Given the description of an element on the screen output the (x, y) to click on. 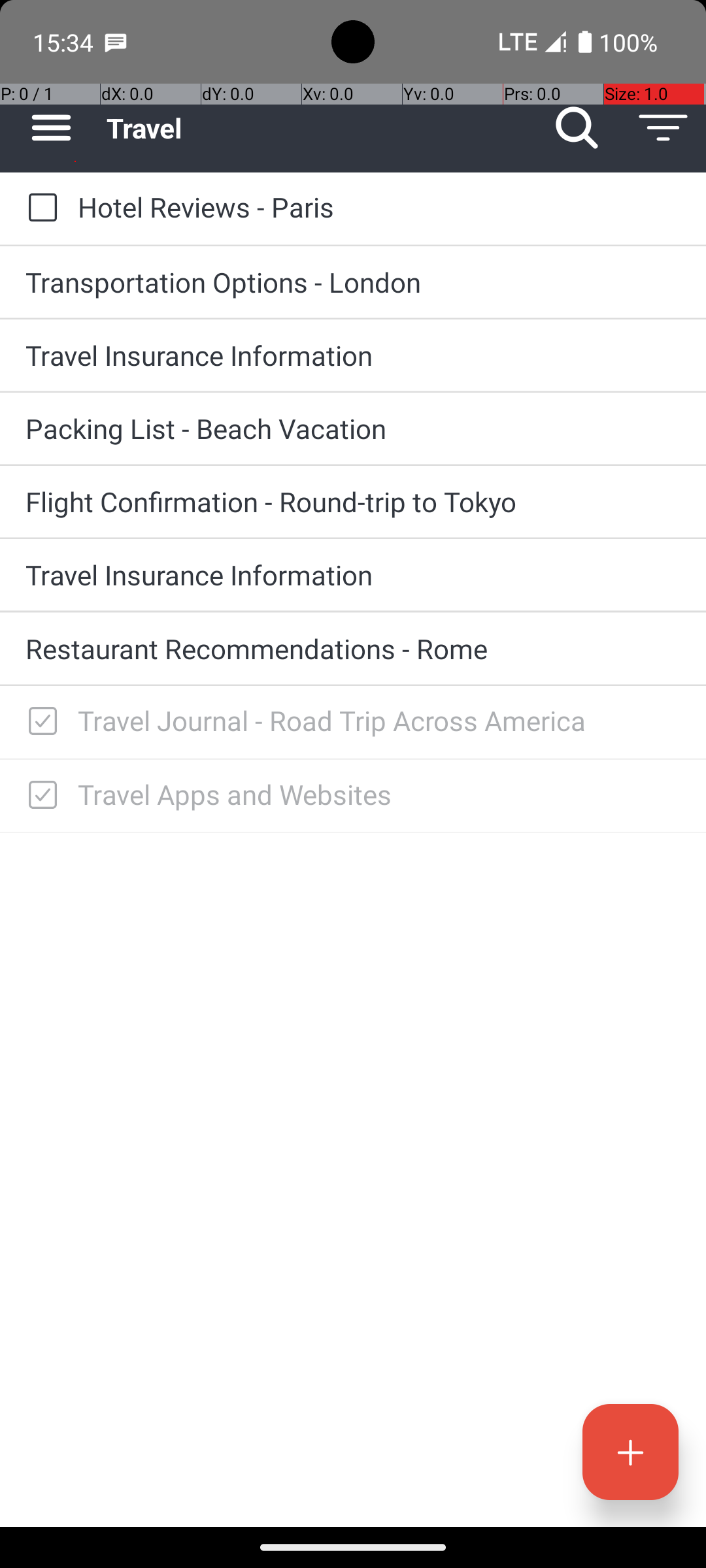
Travel Element type: android.widget.TextView (320, 127)
to-do: Hotel Reviews - Paris Element type: android.widget.CheckBox (38, 208)
Hotel Reviews - Paris Element type: android.widget.TextView (378, 206)
Transportation Options - London Element type: android.widget.TextView (352, 281)
Travel Insurance Information Element type: android.widget.TextView (352, 354)
Packing List - Beach Vacation Element type: android.widget.TextView (352, 427)
Flight Confirmation - Round-trip to Tokyo Element type: android.widget.TextView (352, 501)
Restaurant Recommendations - Rome Element type: android.widget.TextView (352, 648)
to-do: Travel Journal - Road Trip Across America Element type: android.widget.CheckBox (38, 722)
Travel Journal - Road Trip Across America Element type: android.widget.TextView (378, 719)
to-do: Travel Apps and Websites Element type: android.widget.CheckBox (38, 795)
Travel Apps and Websites Element type: android.widget.TextView (378, 793)
